Given the description of an element on the screen output the (x, y) to click on. 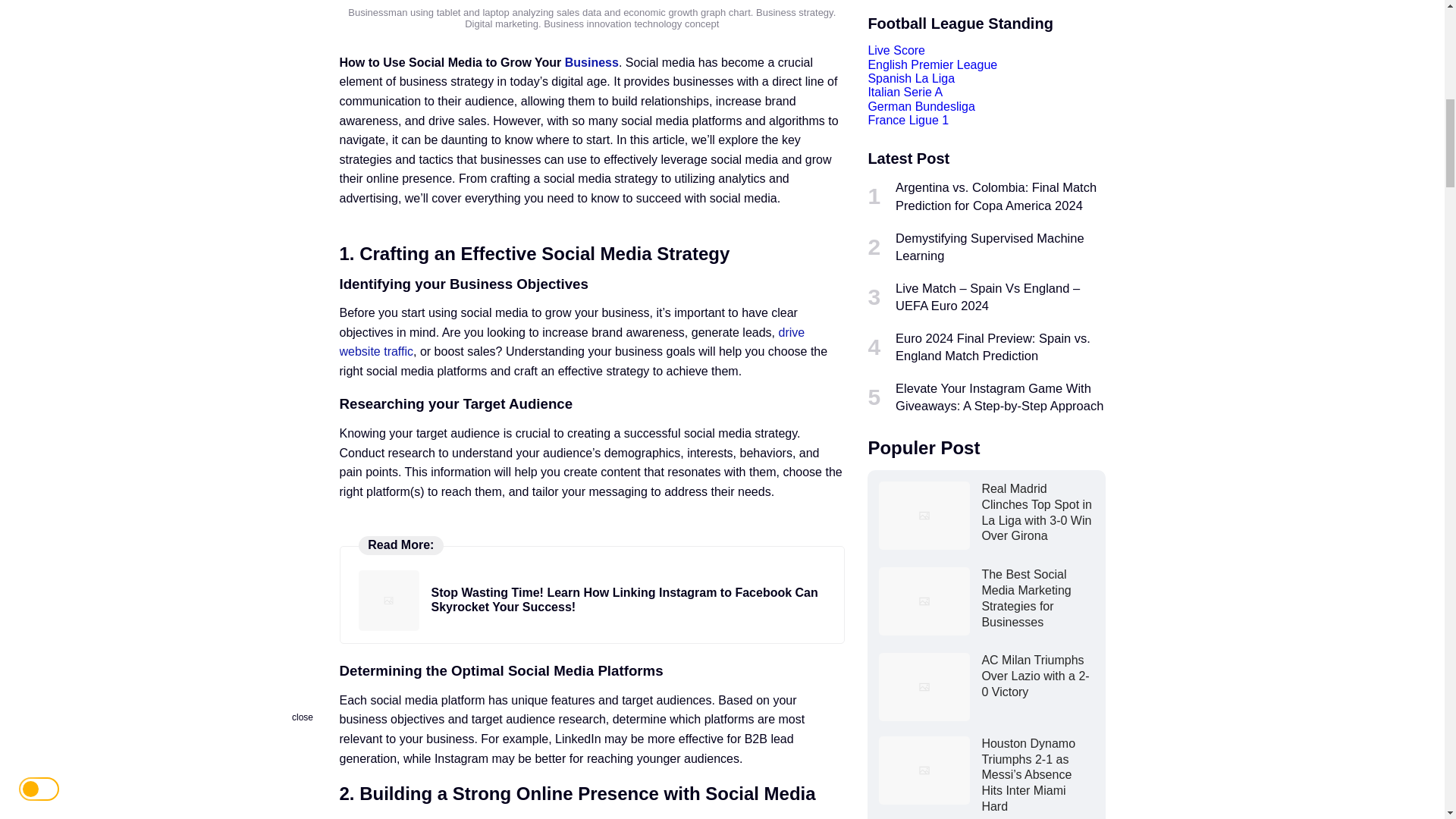
Business (591, 62)
